Given the description of an element on the screen output the (x, y) to click on. 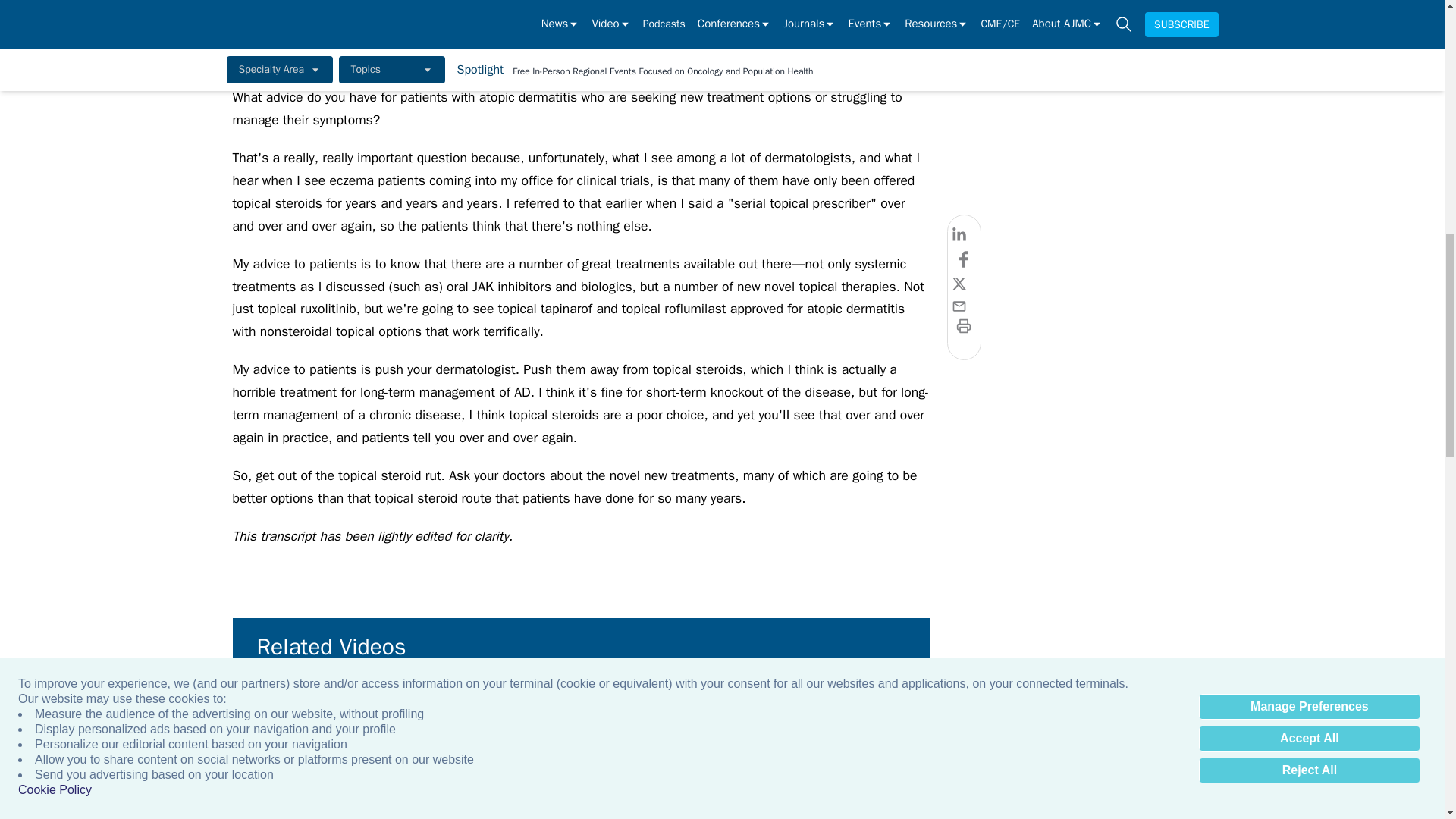
Robert Kushner, MD, MS (507, 719)
Mina Massaro-Giordano, MD (999, 719)
Tiara Green, MSEd (1326, 719)
